Given the description of an element on the screen output the (x, y) to click on. 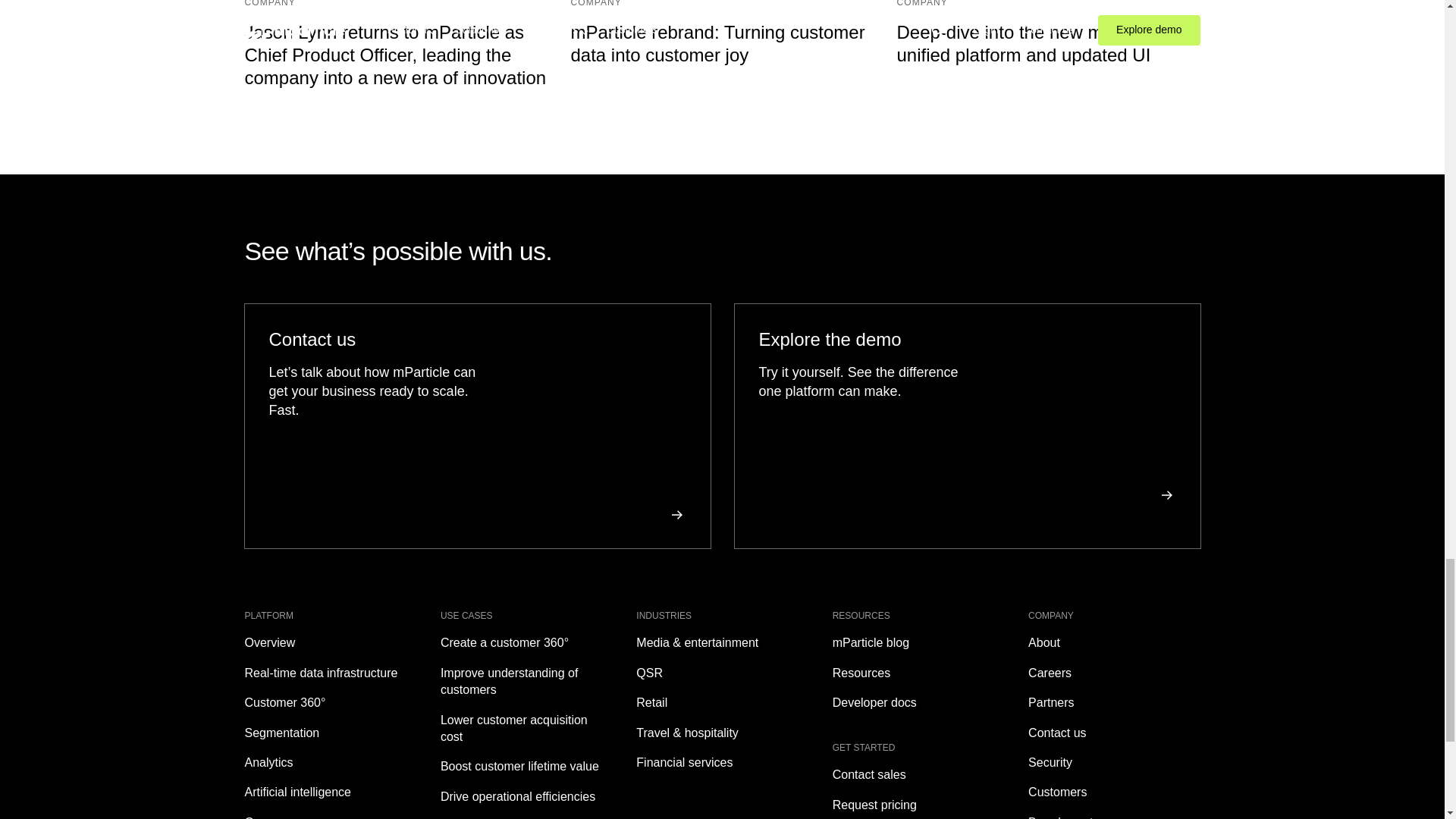
Segmentation (329, 733)
Real-time data infrastructure (329, 673)
Artificial intelligence (329, 791)
Overview (329, 642)
Governance (329, 816)
Improve understanding of customers (526, 682)
Analytics (329, 762)
